Given the description of an element on the screen output the (x, y) to click on. 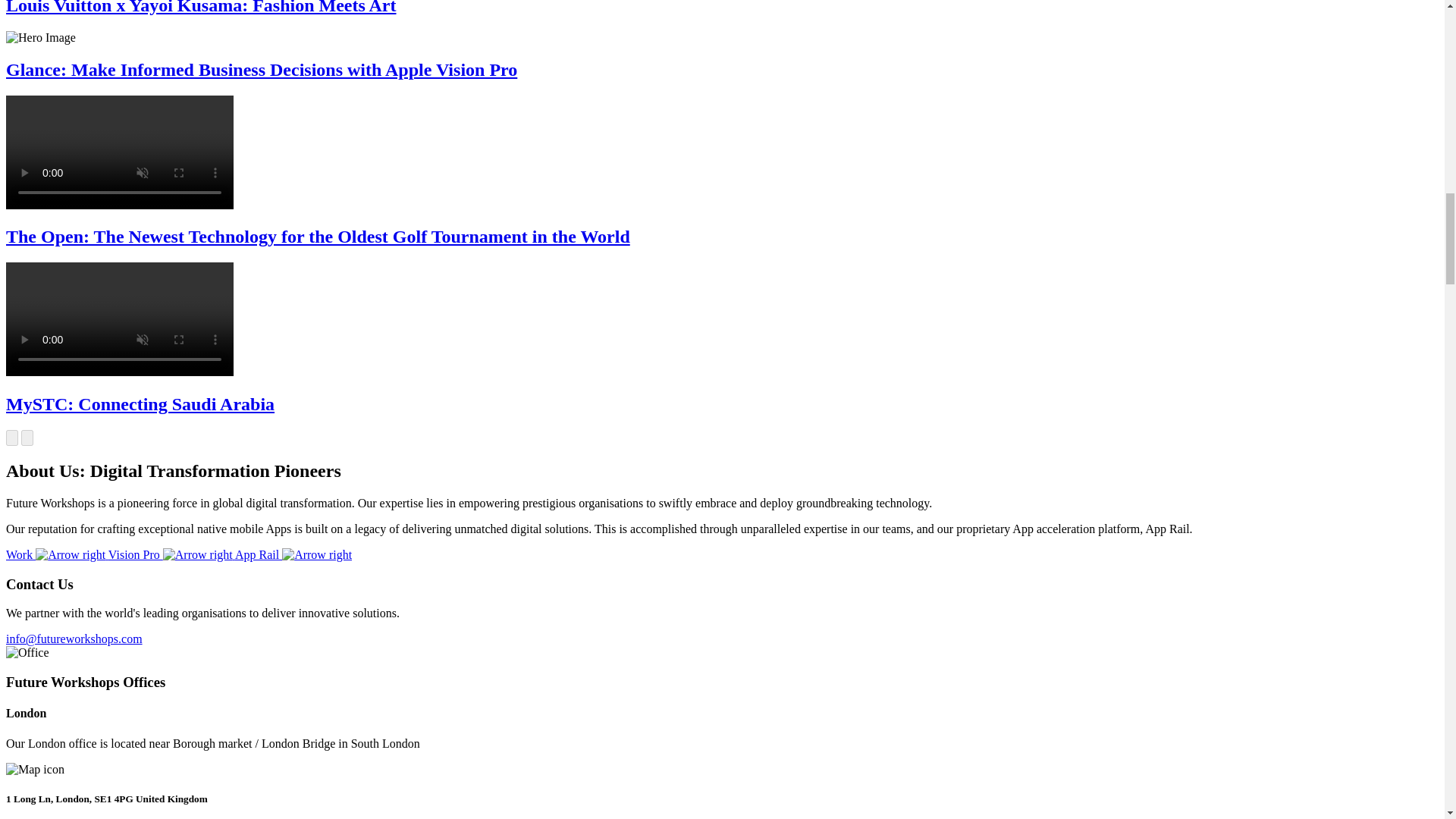
App Rail (293, 554)
Work (56, 554)
Vision Pro (170, 554)
